Given the description of an element on the screen output the (x, y) to click on. 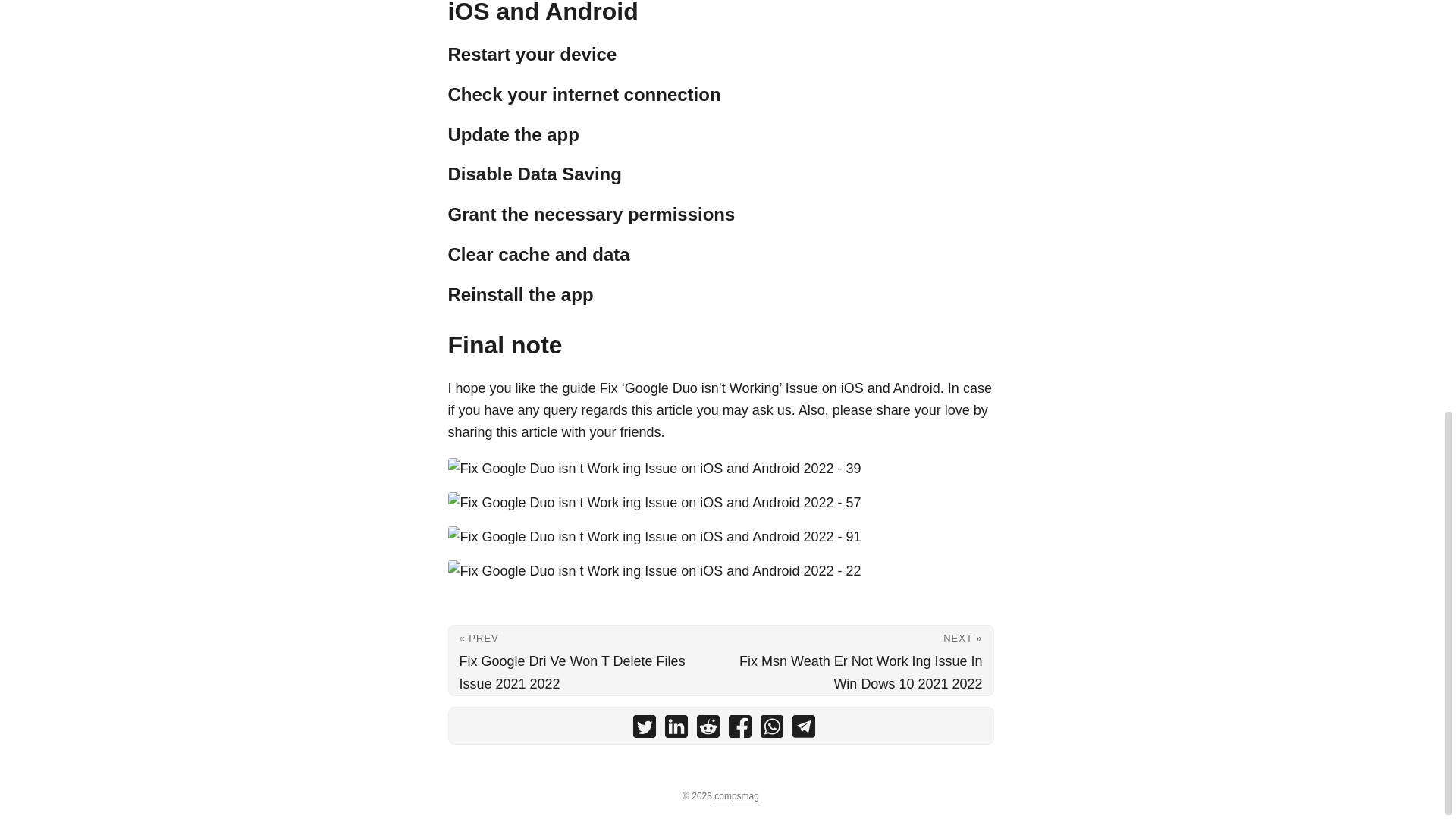
compsmag (736, 796)
